Given the description of an element on the screen output the (x, y) to click on. 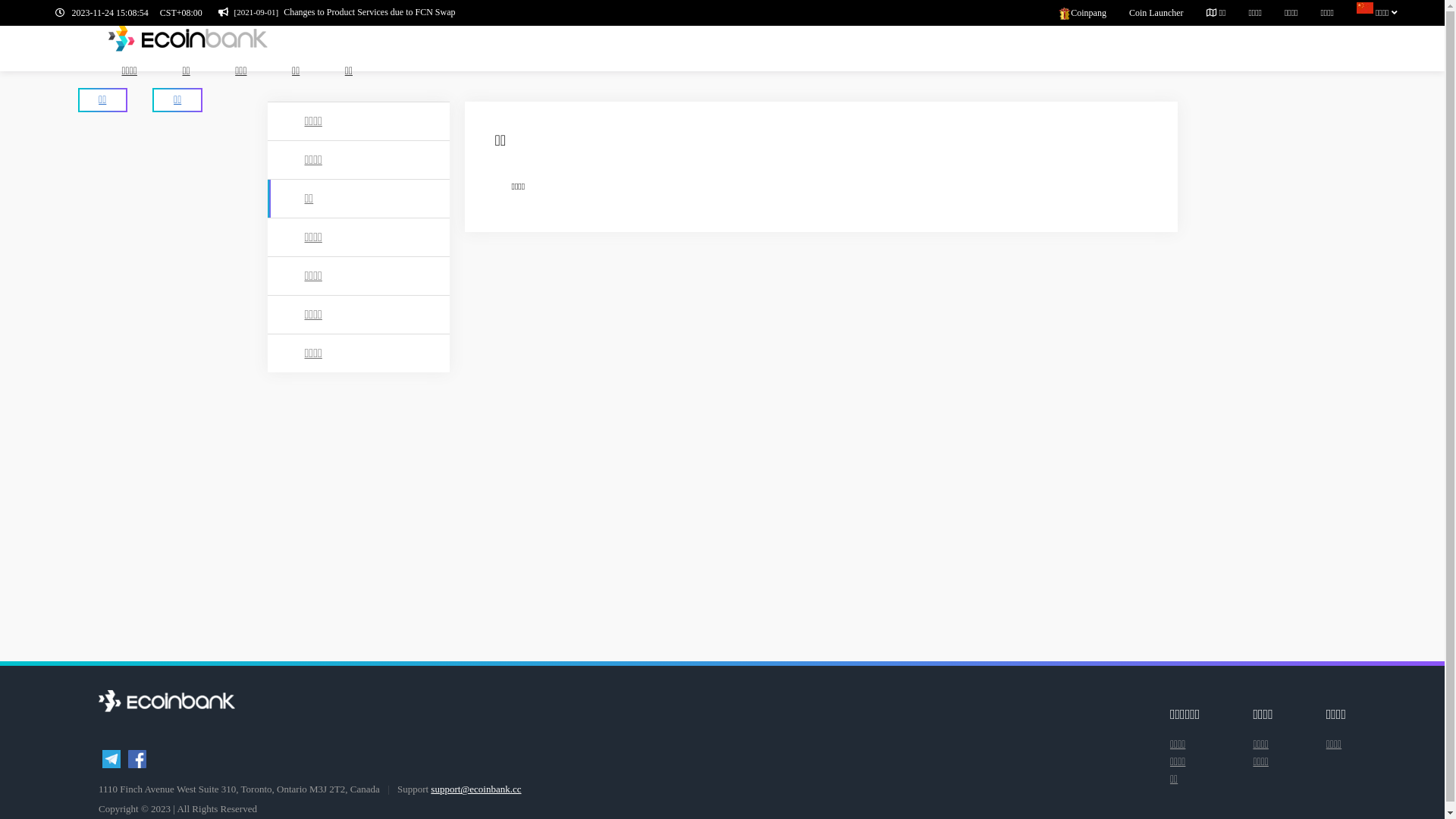
[2021-09-01] Changes to Product Services due to FCN Swap Element type: text (336, 11)
Coinpang Element type: text (1093, 12)
Coin Launcher Element type: text (1167, 12)
support@ecoinbank.cc Element type: text (475, 788)
